Given the description of an element on the screen output the (x, y) to click on. 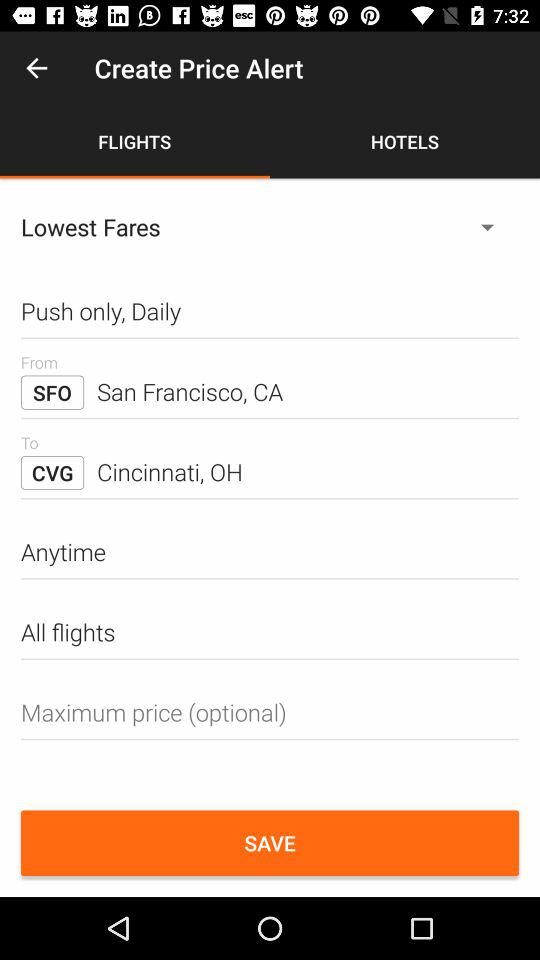
maximum price (270, 712)
